Given the description of an element on the screen output the (x, y) to click on. 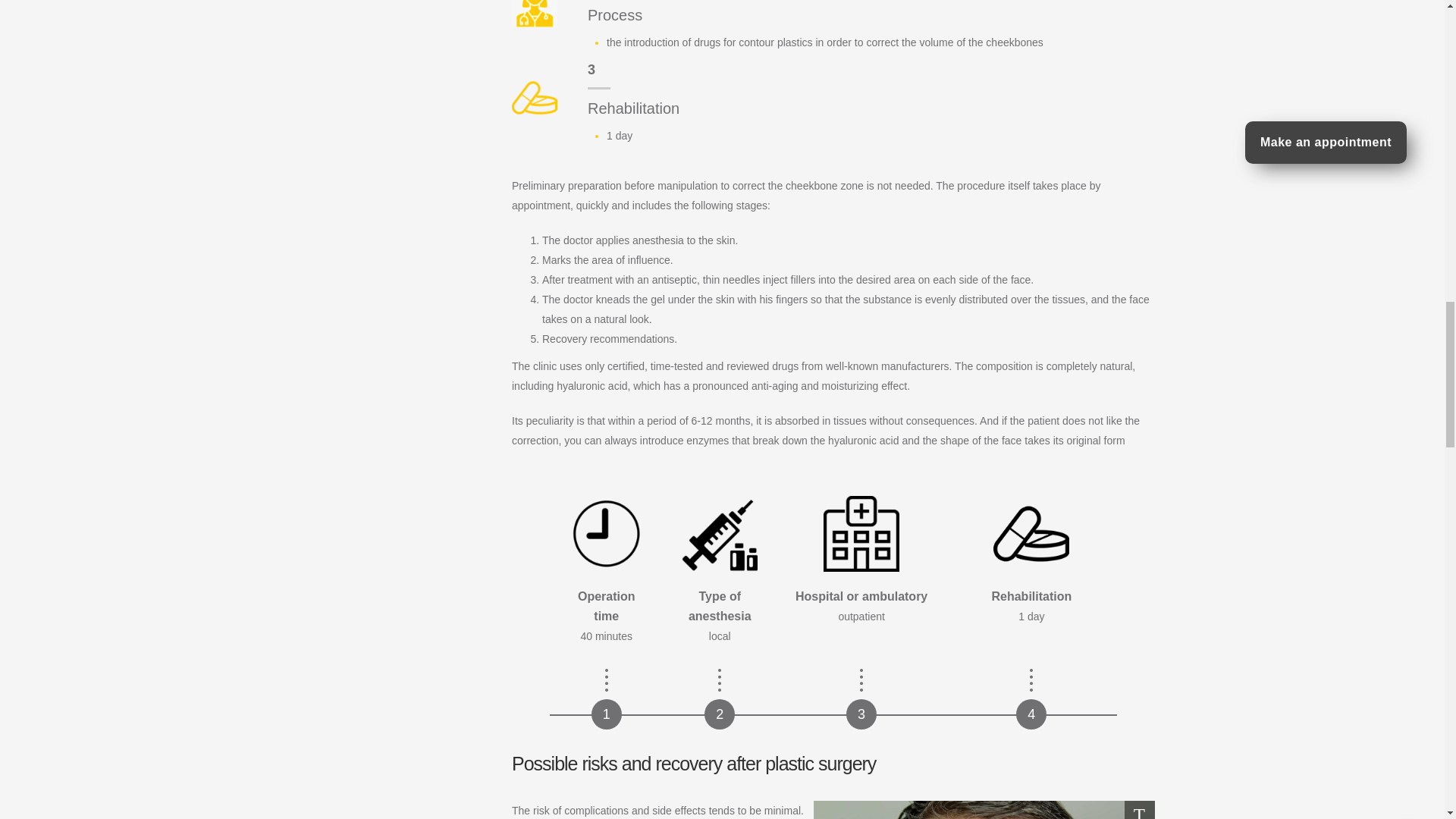
Cheekbone Contouring in Poltava, Kiev and Kharkov - photo 2 (983, 809)
